Given the description of an element on the screen output the (x, y) to click on. 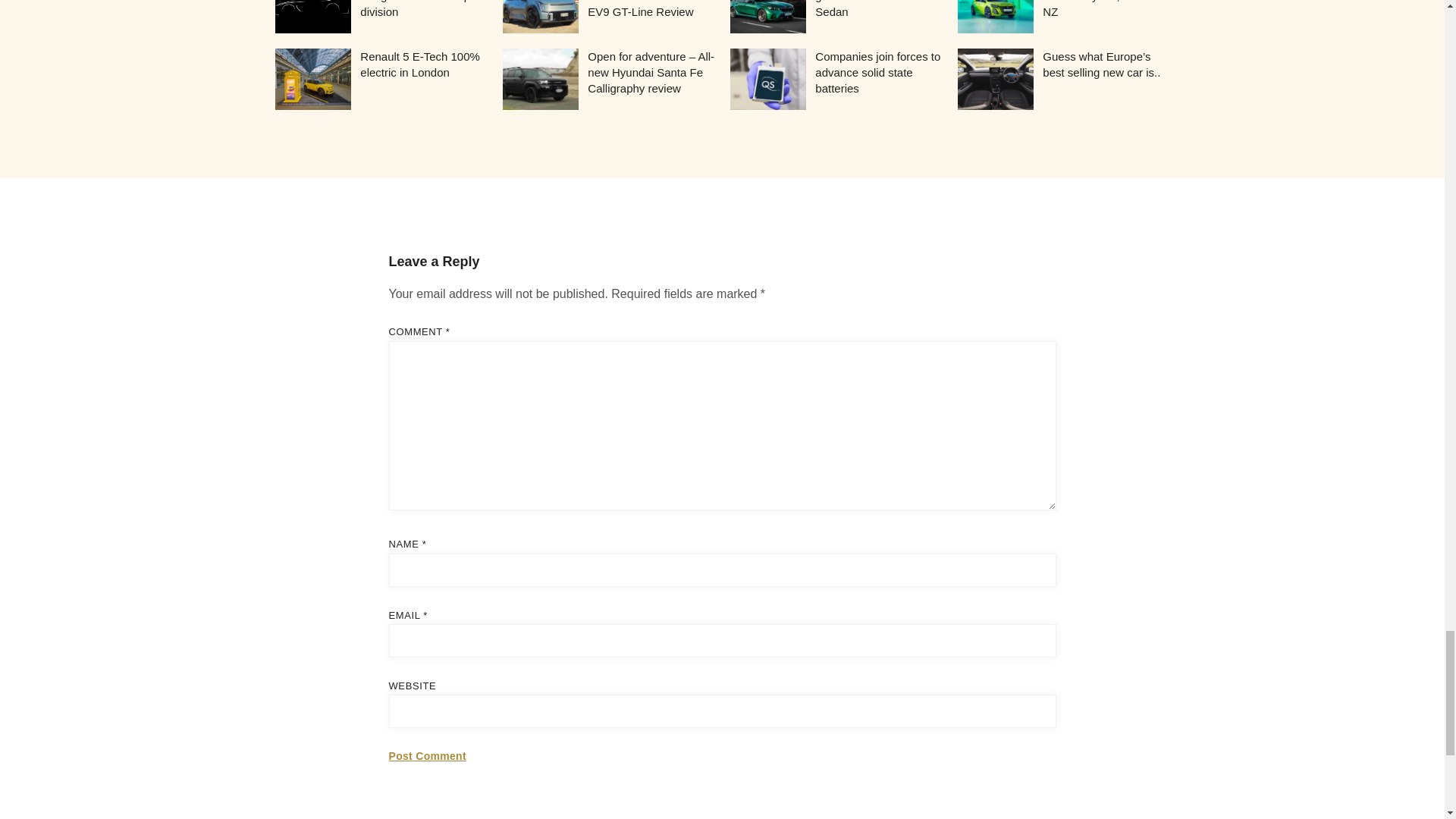
Post Comment (426, 756)
